Given the description of an element on the screen output the (x, y) to click on. 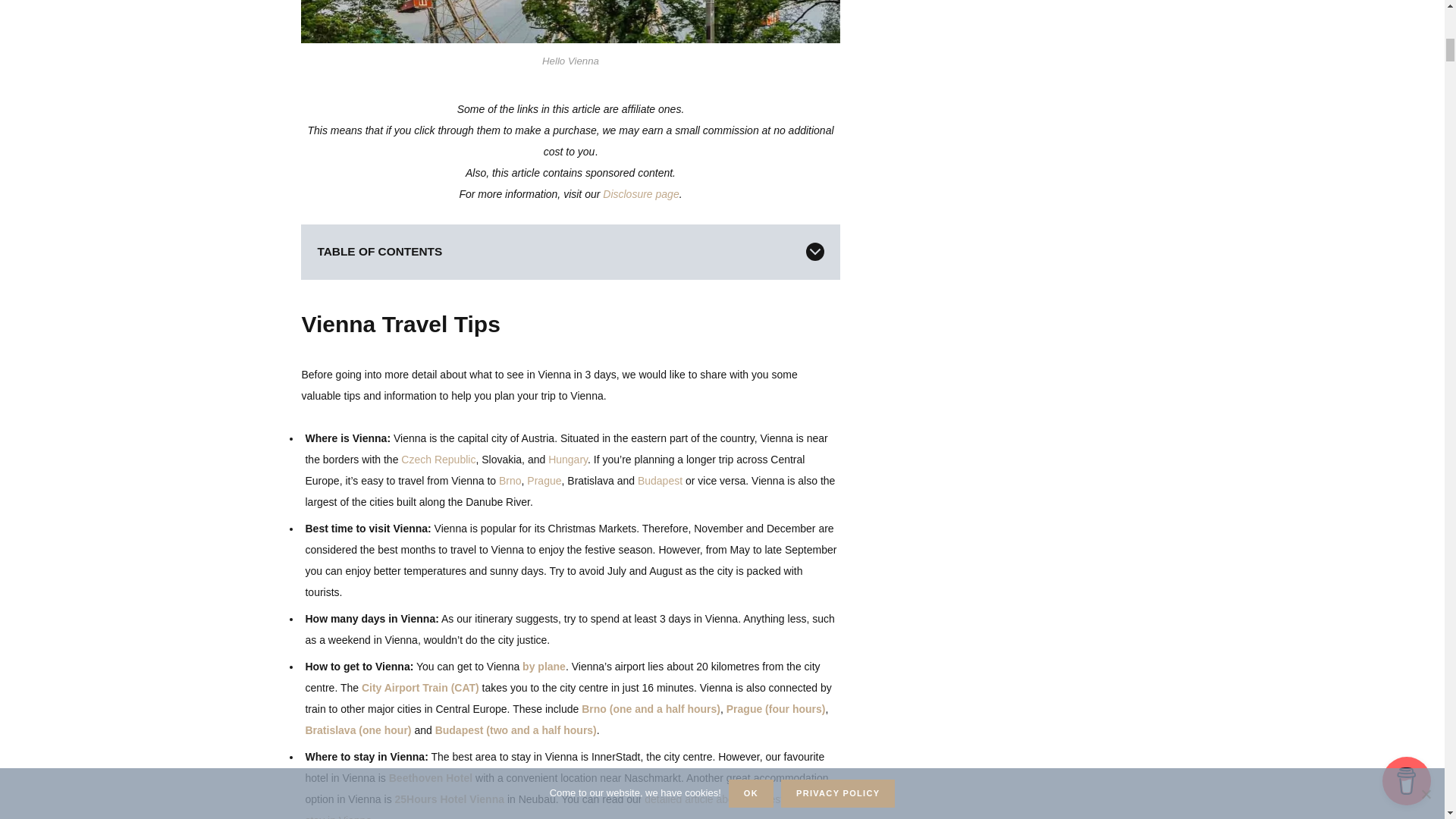
Disclosure page (640, 193)
